Given the description of an element on the screen output the (x, y) to click on. 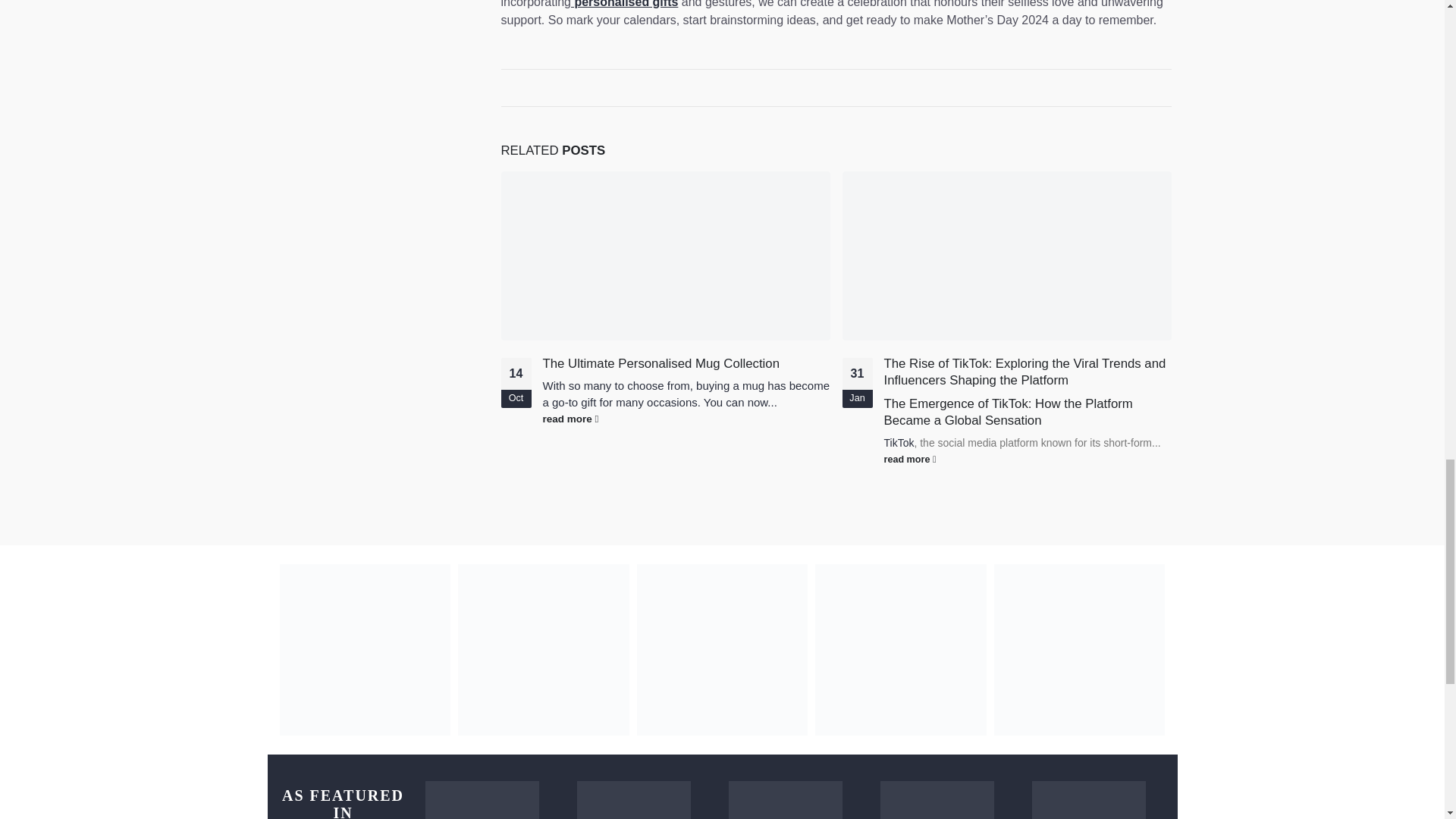
martha-stewart-logo (784, 800)
the-sun-web-white (481, 800)
hello-magzine-white-web-2 (633, 800)
